Given the description of an element on the screen output the (x, y) to click on. 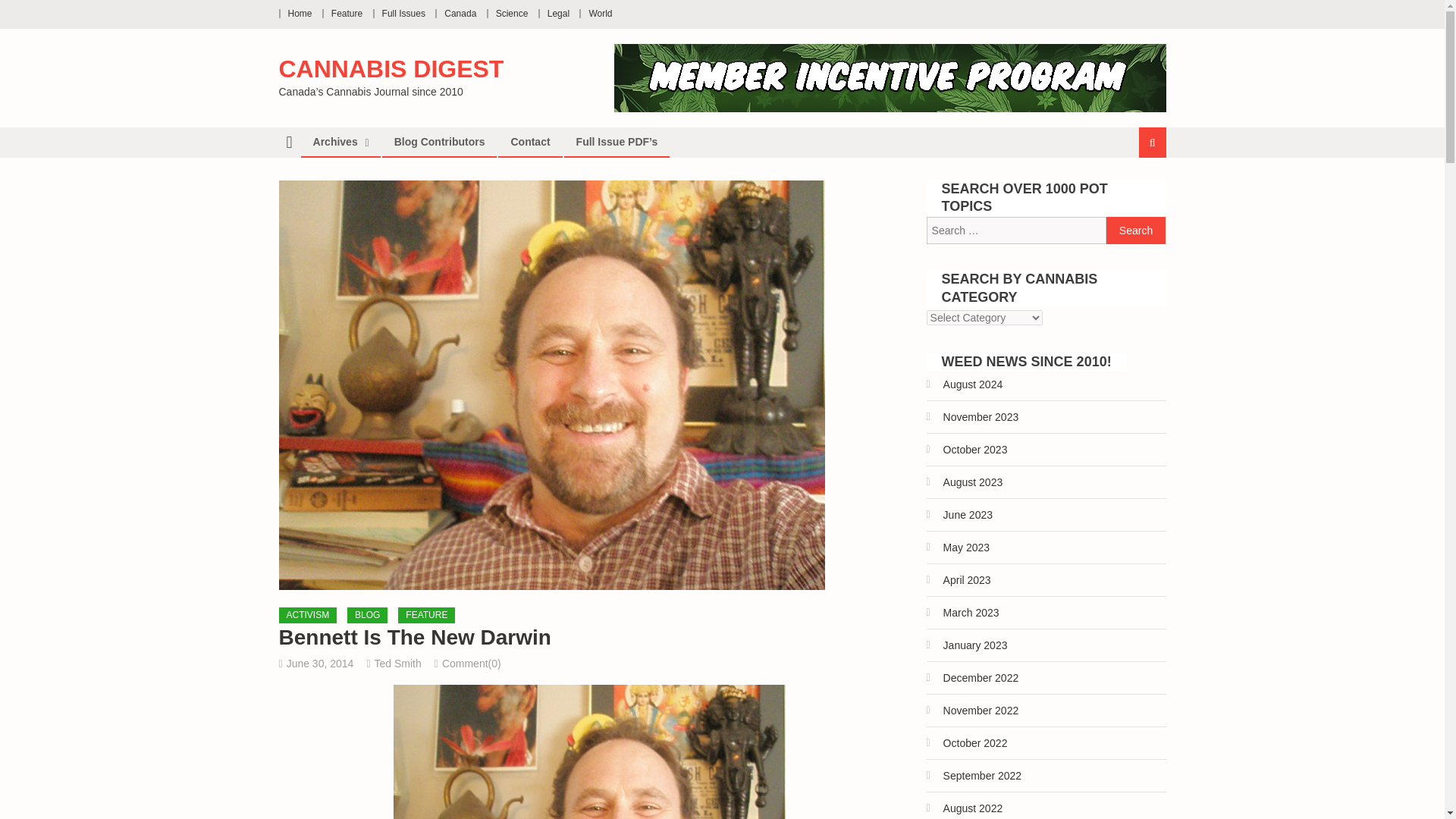
CANNABIS DIGEST (391, 68)
Search (1133, 193)
Home (300, 13)
Full Issues (403, 13)
Ted Smith (398, 663)
Science (512, 13)
June 30, 2014 (319, 663)
Search (1136, 230)
World (599, 13)
Canada (460, 13)
